Given the description of an element on the screen output the (x, y) to click on. 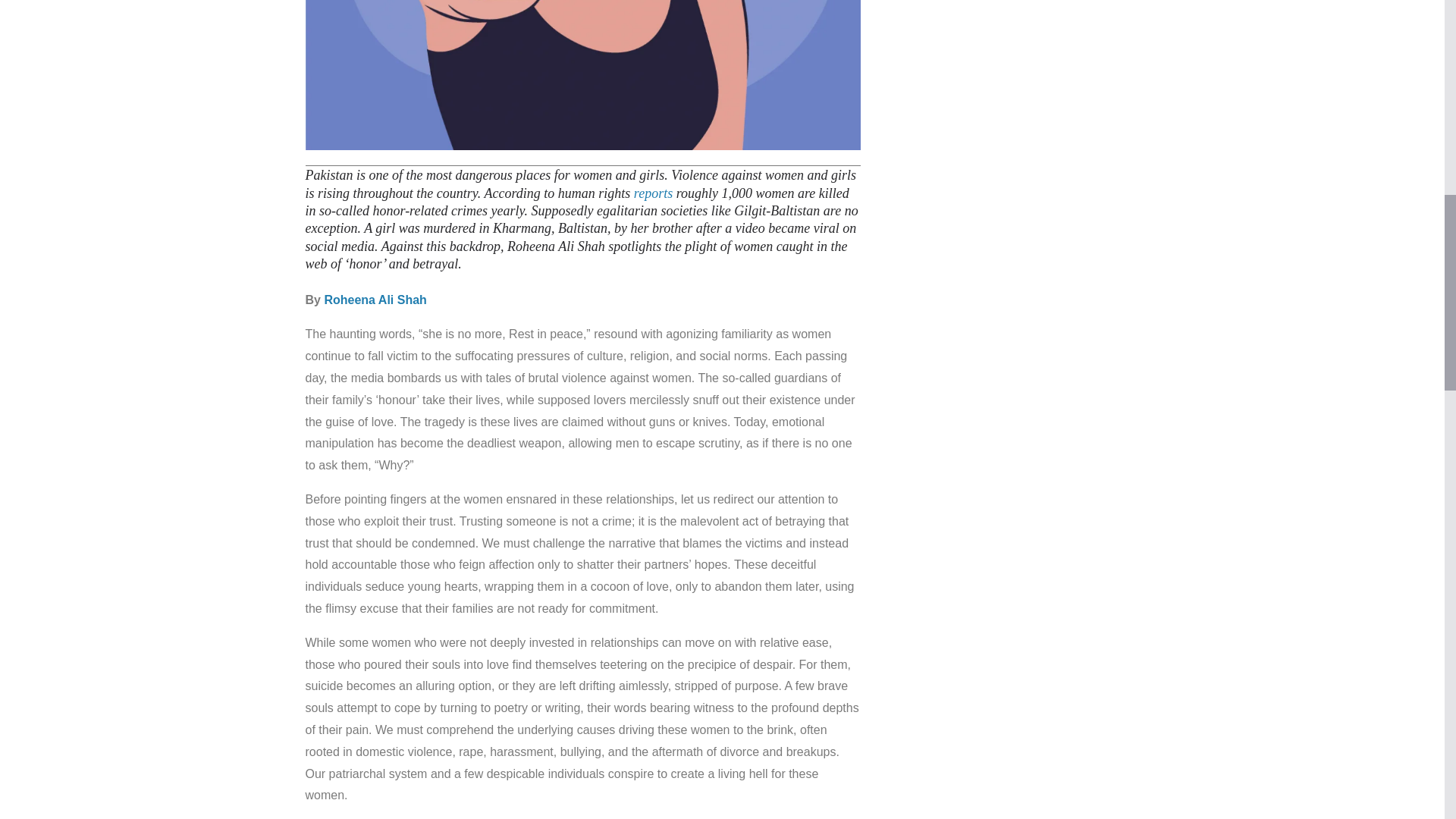
Roheena Ali Shah (374, 299)
reports (652, 192)
